Given the description of an element on the screen output the (x, y) to click on. 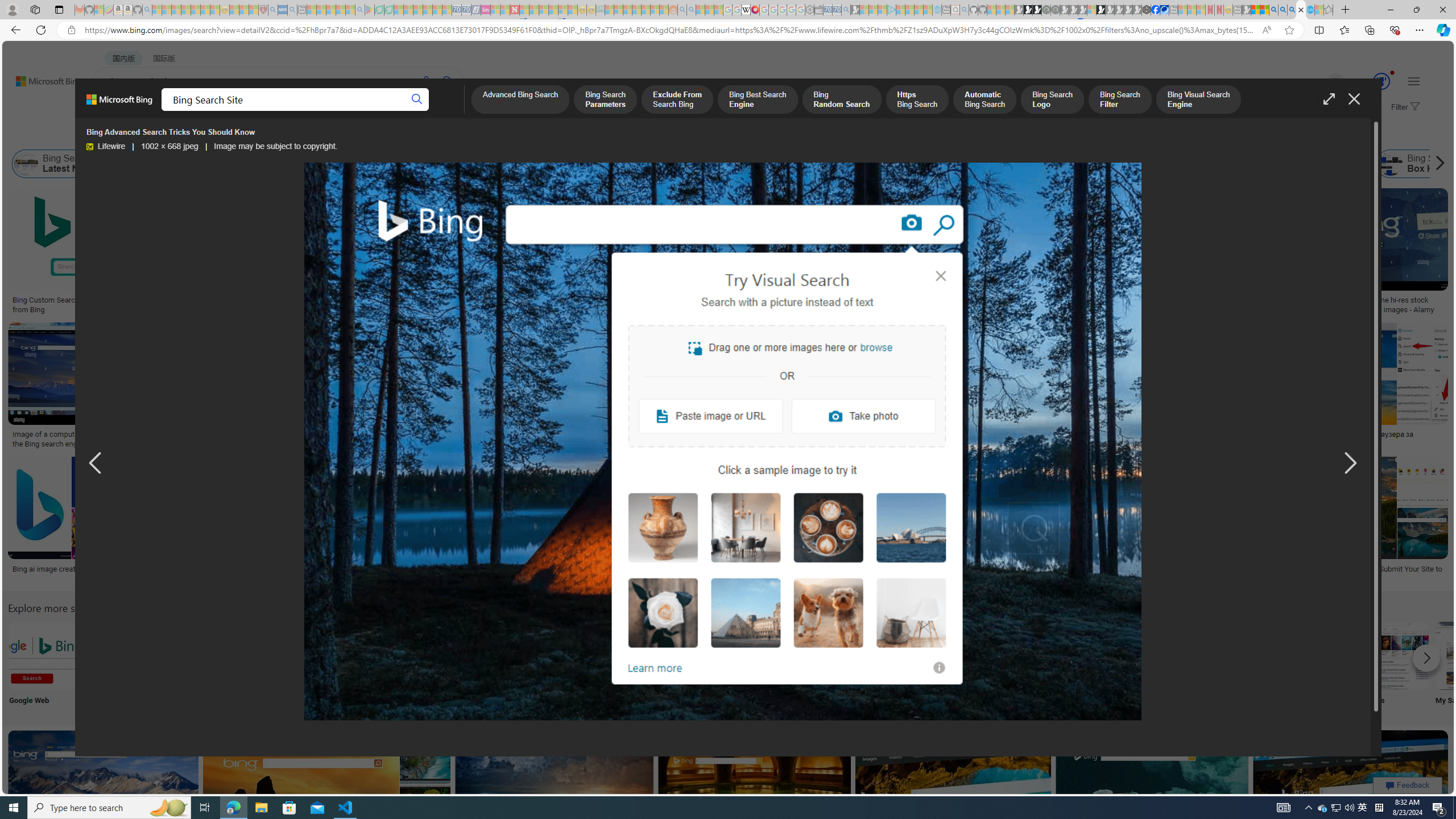
Google Web Search Bing (42, 654)
Bing Search App App (1018, 665)
Services - Maintenance | Sky Blue Bikes - Sky Blue Bikes (1309, 9)
Bing Search App Icon (418, 654)
New Bing Image Search (1169, 654)
Bing Search App Logo App Logo (118, 665)
